Given the description of an element on the screen output the (x, y) to click on. 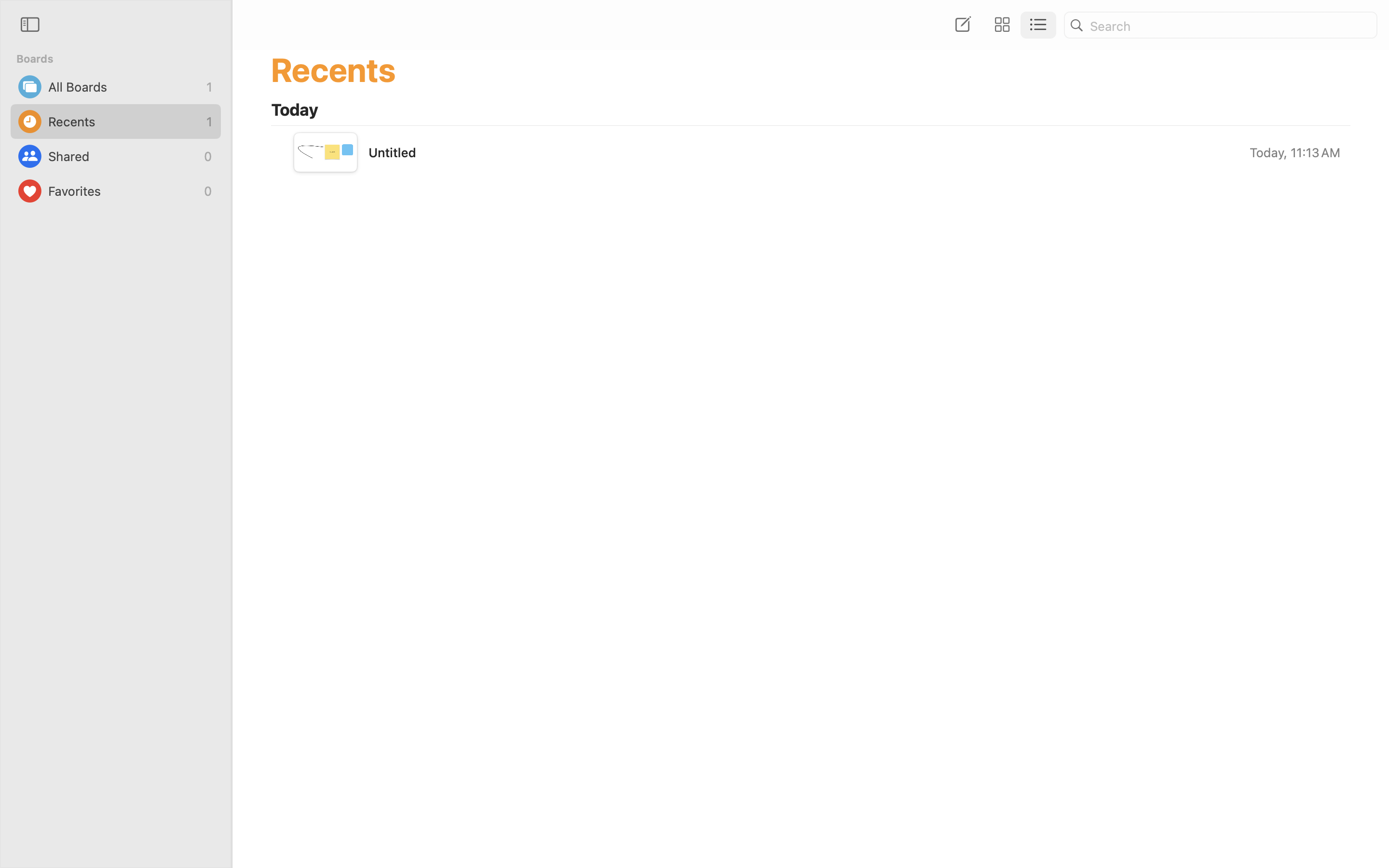
Shared Element type: AXStaticText (123, 155)
Favorites Element type: AXStaticText (123, 190)
Boards Element type: AXStaticText (121, 58)
Today, 11:13 AM Element type: AXStaticText (1294, 152)
